Given the description of an element on the screen output the (x, y) to click on. 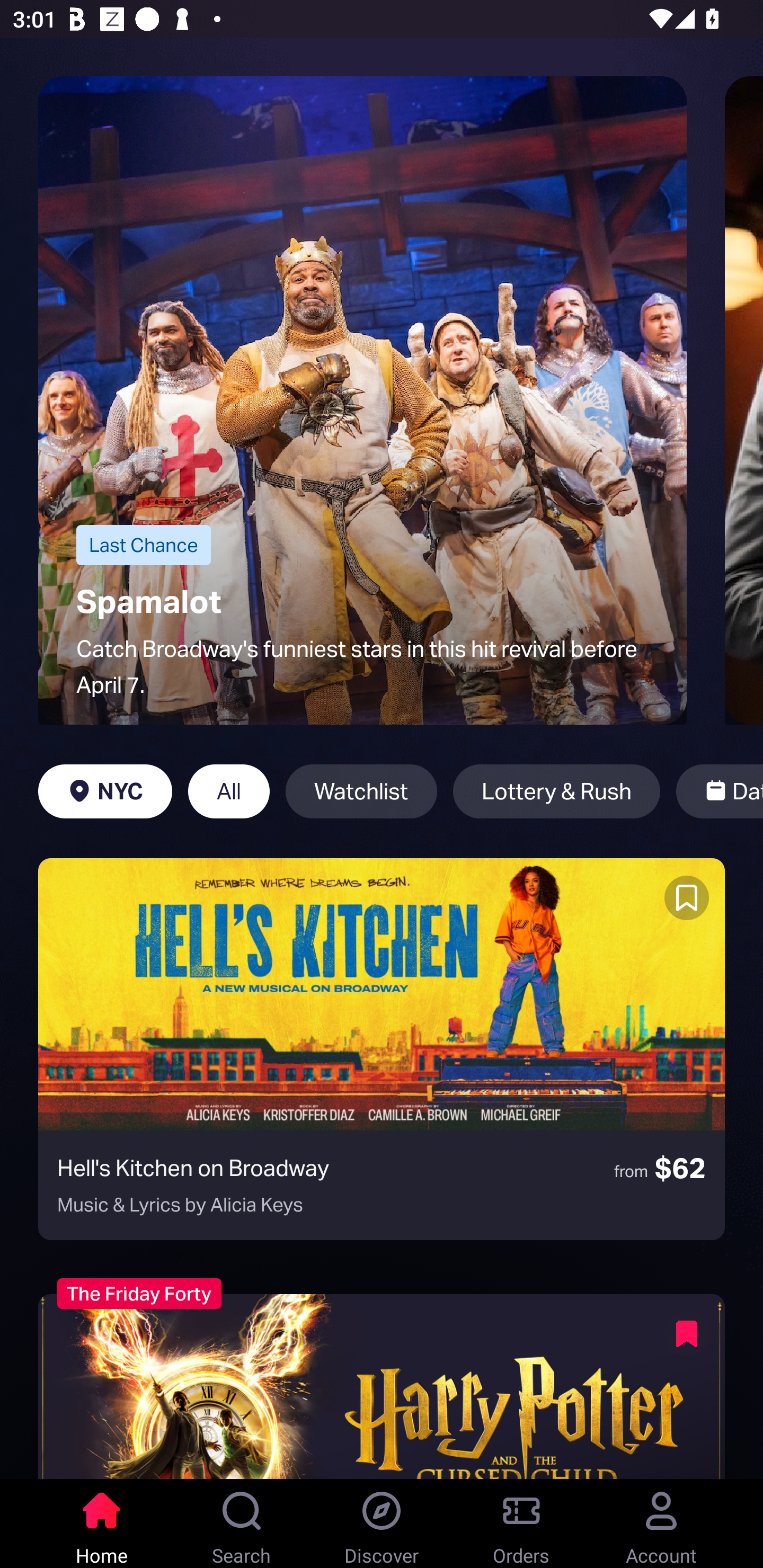
NYC (105, 791)
All (228, 791)
Watchlist (361, 791)
Lottery & Rush (556, 791)
Search (241, 1523)
Discover (381, 1523)
Orders (521, 1523)
Account (660, 1523)
